Given the description of an element on the screen output the (x, y) to click on. 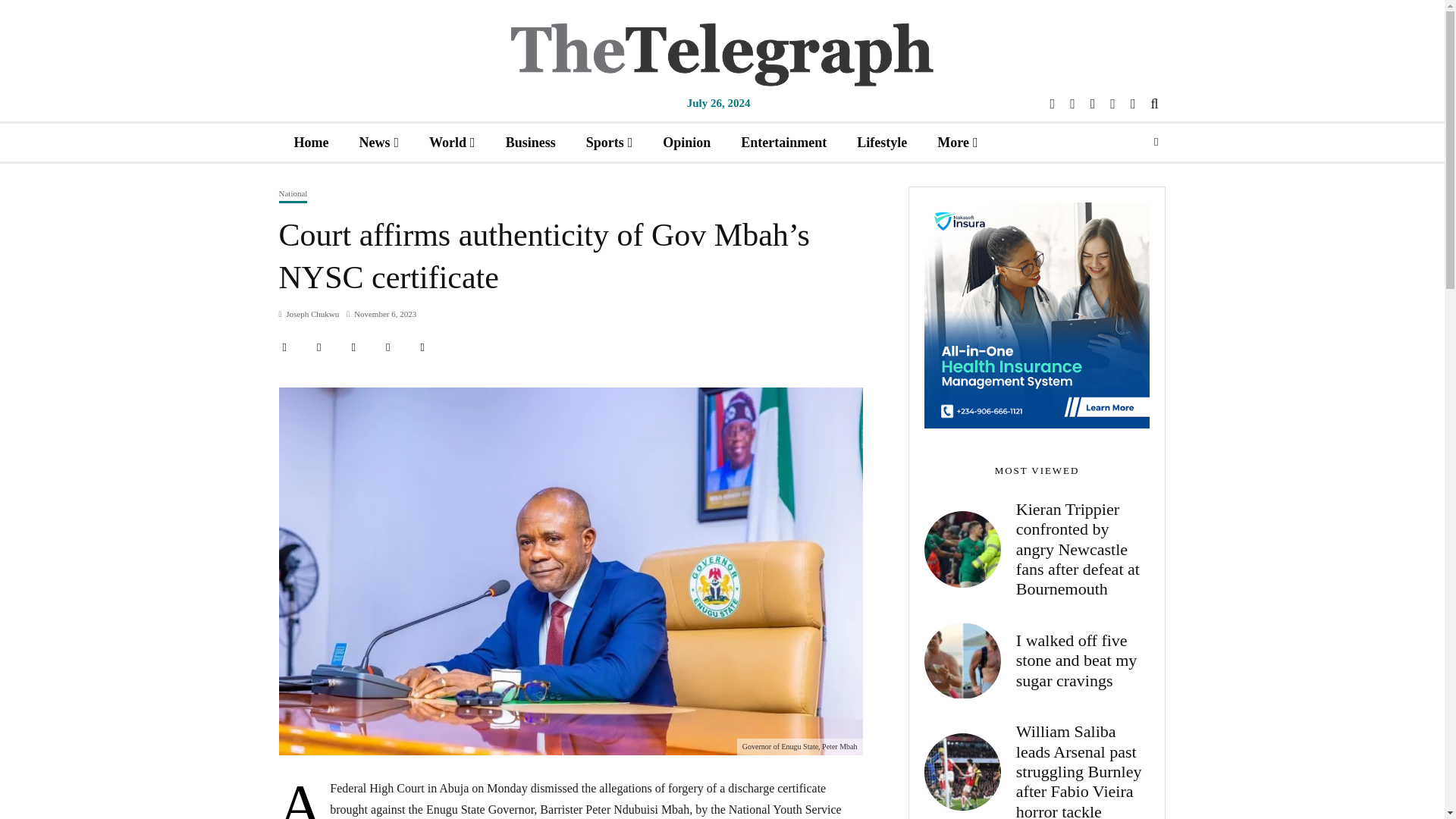
Lifestyle (881, 141)
Business (530, 141)
Sports (608, 141)
More (956, 141)
Opinion (686, 141)
Entertainment (783, 141)
Home (311, 141)
News (378, 141)
World (451, 141)
